Given the description of an element on the screen output the (x, y) to click on. 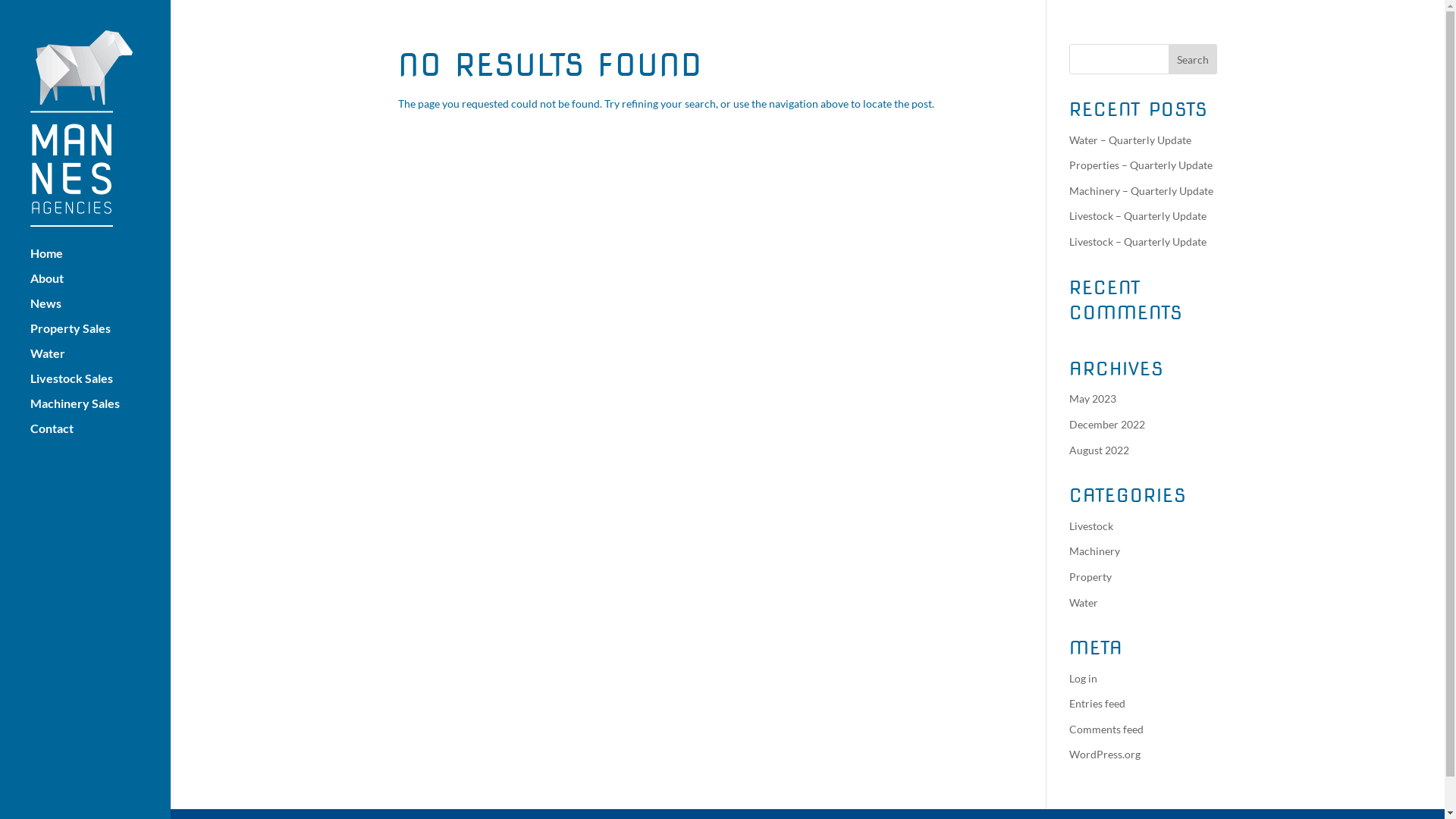
Comments feed Element type: text (1106, 728)
Livestock Element type: text (1091, 525)
Water Element type: text (100, 360)
August 2022 Element type: text (1099, 449)
Machinery Element type: text (1094, 550)
Log in Element type: text (1083, 677)
Home Element type: text (100, 260)
WordPress.org Element type: text (1104, 753)
Search Element type: text (1192, 58)
Contact Element type: text (100, 435)
Property Element type: text (1090, 576)
December 2022 Element type: text (1107, 423)
Property Sales Element type: text (100, 335)
Entries feed Element type: text (1097, 702)
Machinery Sales Element type: text (100, 410)
Water Element type: text (1083, 602)
May 2023 Element type: text (1092, 398)
News Element type: text (100, 310)
About Element type: text (100, 285)
Livestock Sales Element type: text (100, 385)
